Given the description of an element on the screen output the (x, y) to click on. 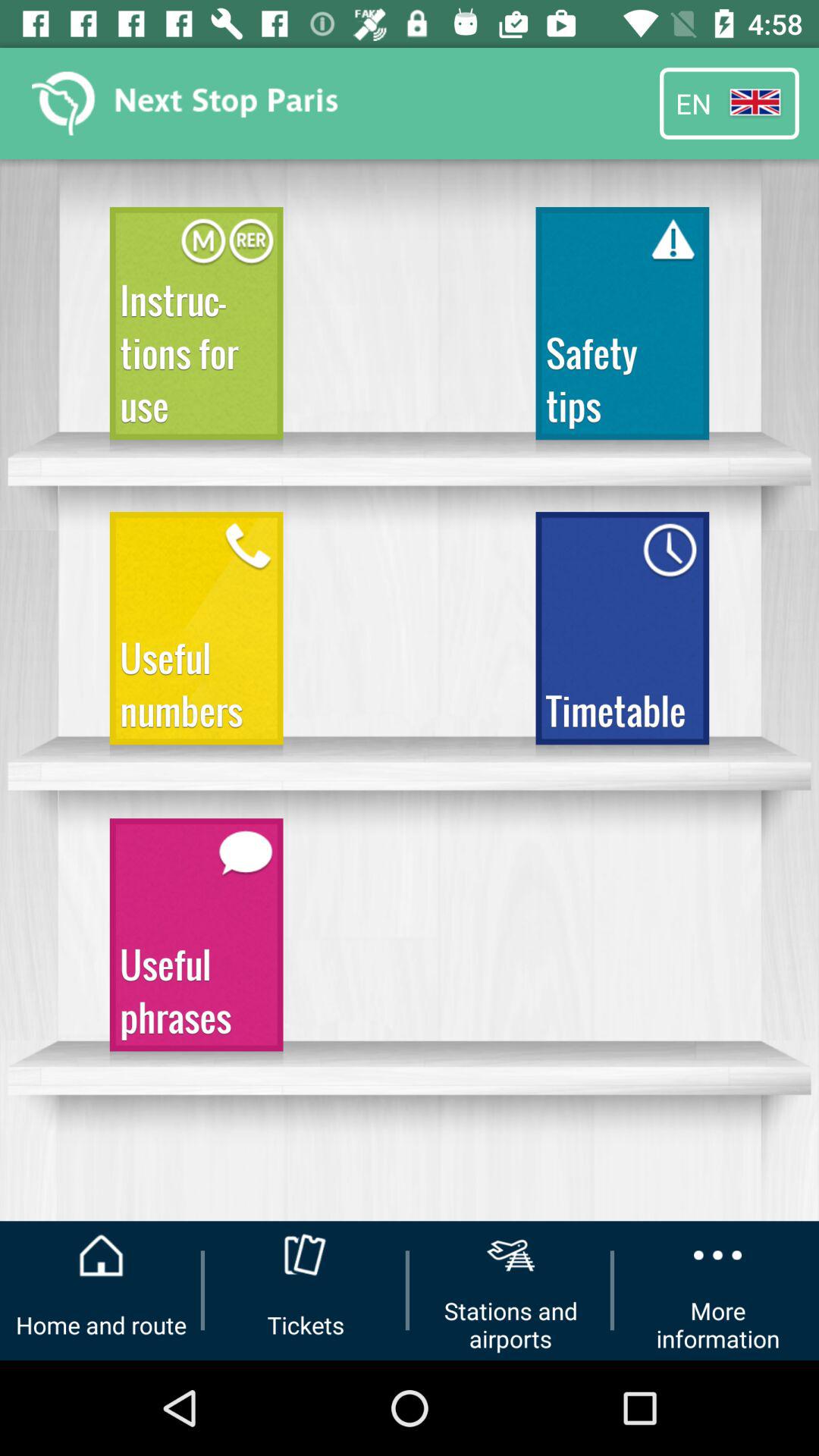
jump until safety tips item (622, 330)
